Given the description of an element on the screen output the (x, y) to click on. 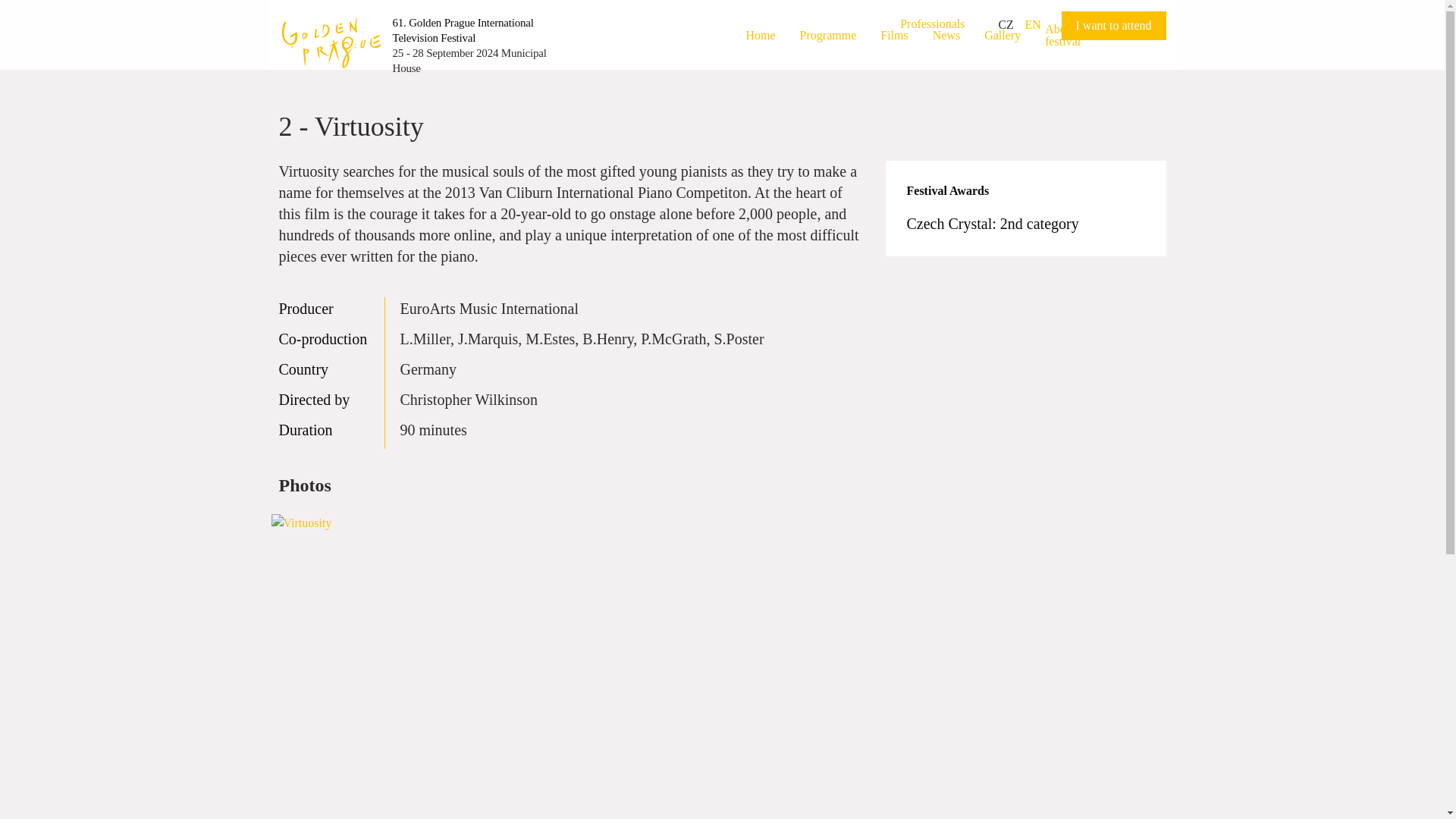
61. Golden Prague International Television Festival Home (331, 41)
Professionals (931, 23)
CZ (1005, 24)
61. Golden Prague International Television Festival Home (463, 30)
Virtuosity (367, 654)
Home (760, 35)
EN (1033, 24)
News (946, 35)
Programme (828, 35)
